Given the description of an element on the screen output the (x, y) to click on. 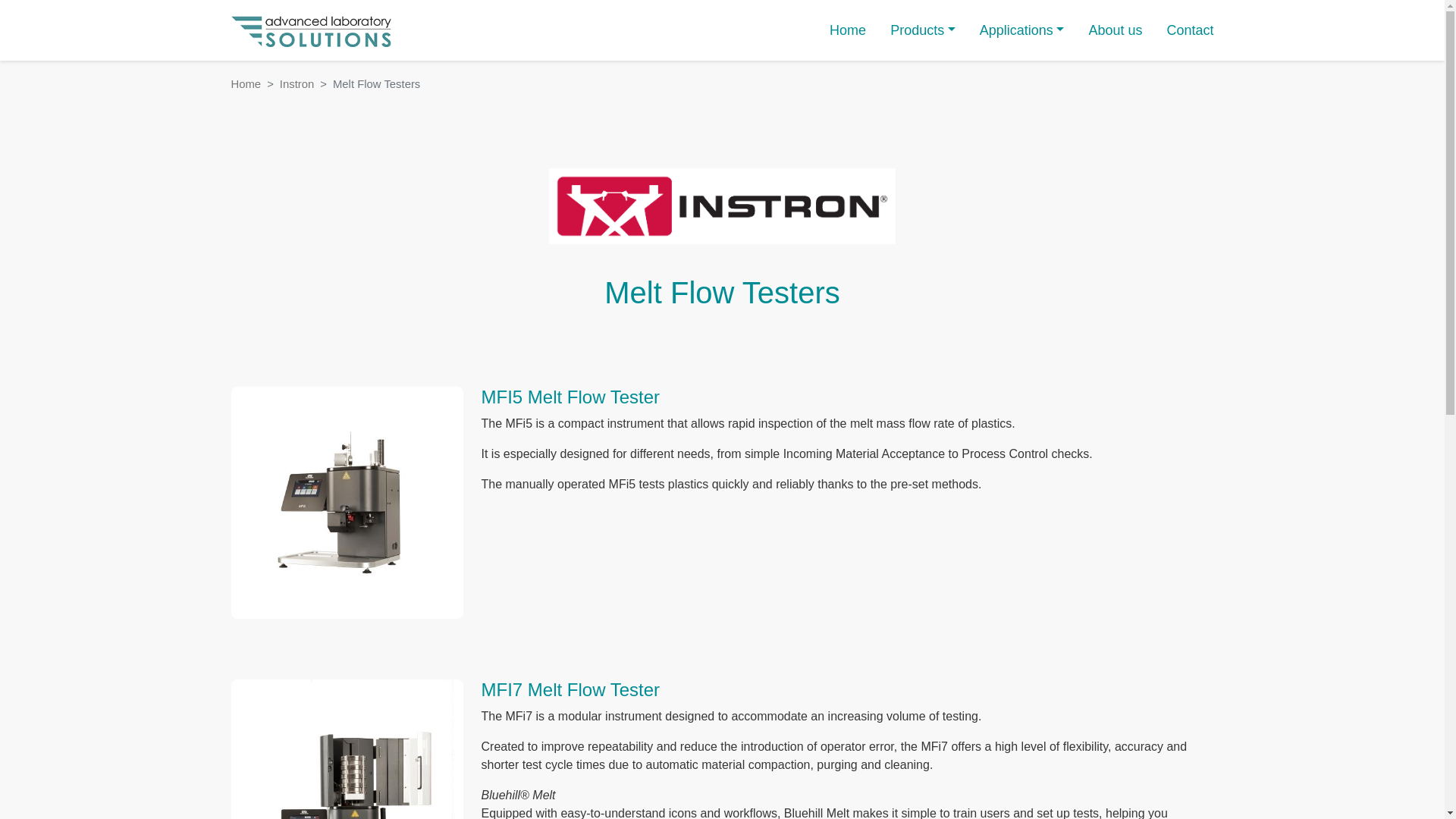
Home (847, 30)
About us (1114, 30)
Home (310, 30)
Products (922, 30)
Home (245, 83)
Contact (1189, 30)
Instron (296, 83)
